Given the description of an element on the screen output the (x, y) to click on. 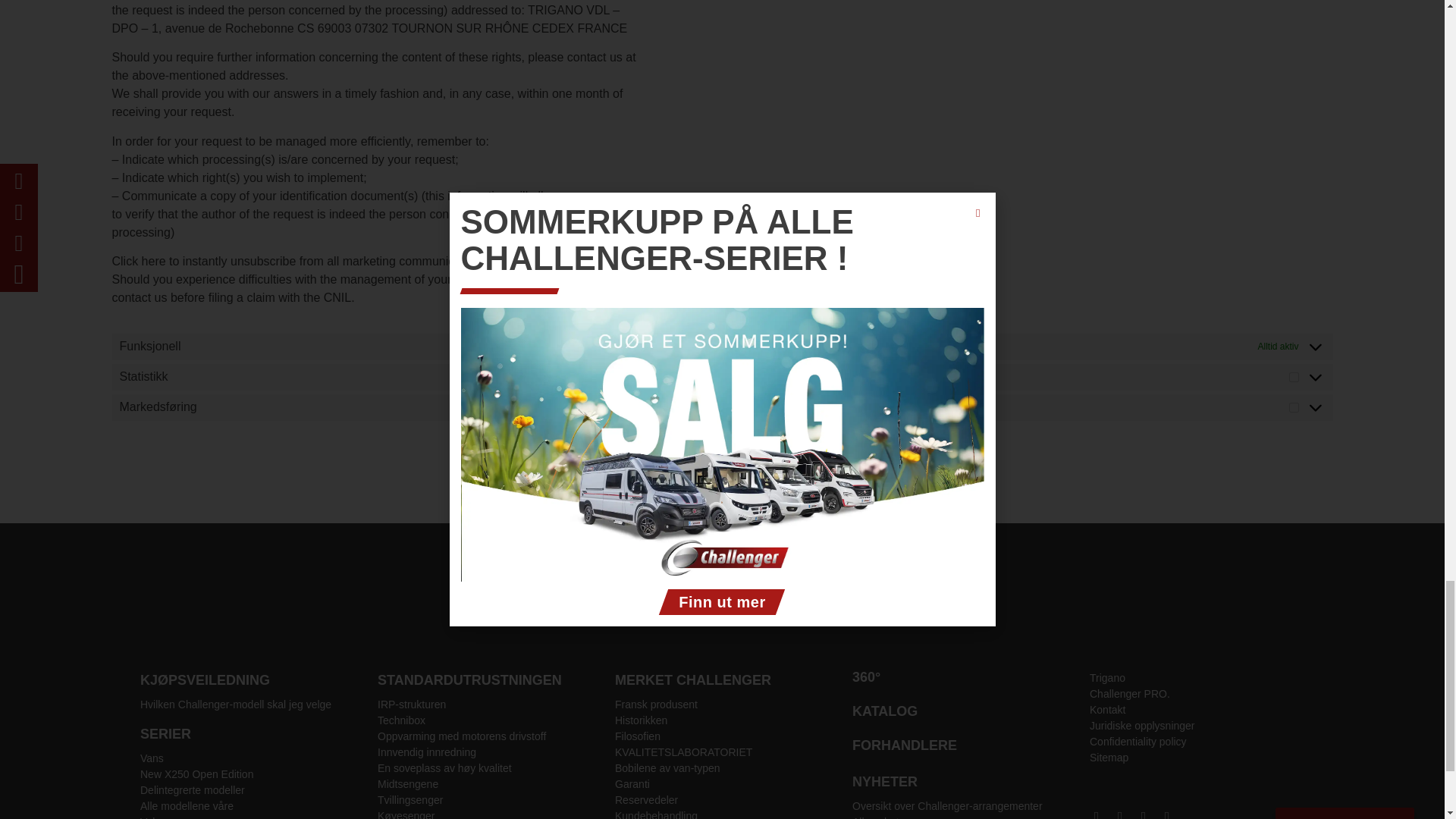
1 (1293, 407)
1 (1293, 377)
